Given the description of an element on the screen output the (x, y) to click on. 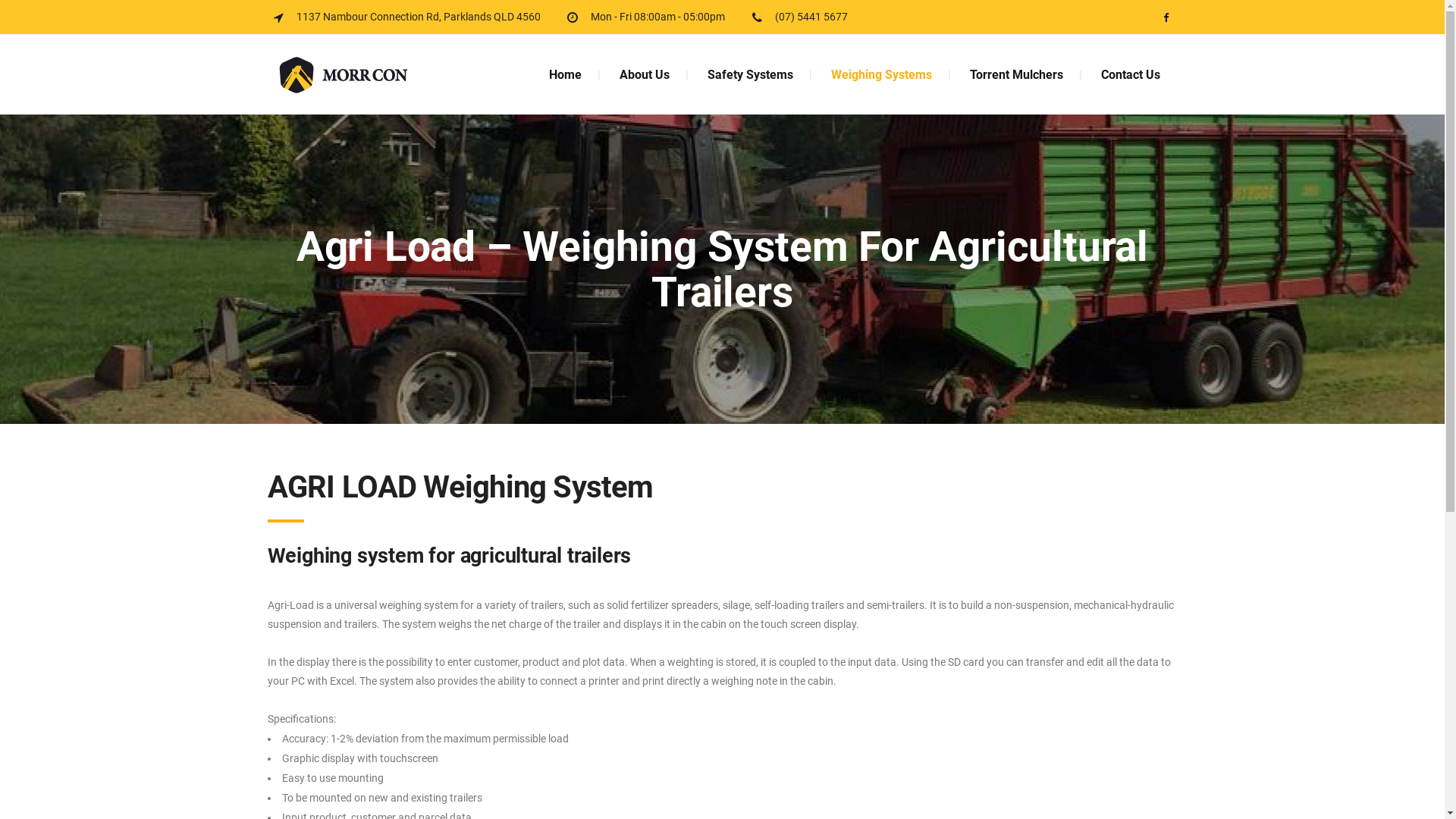
Safety Systems Element type: text (750, 74)
Home Element type: text (564, 74)
About Us Element type: text (644, 74)
Torrent Mulchers Element type: text (1016, 74)
Contact Us Element type: text (1129, 74)
Weighing Systems Element type: text (880, 74)
